Given the description of an element on the screen output the (x, y) to click on. 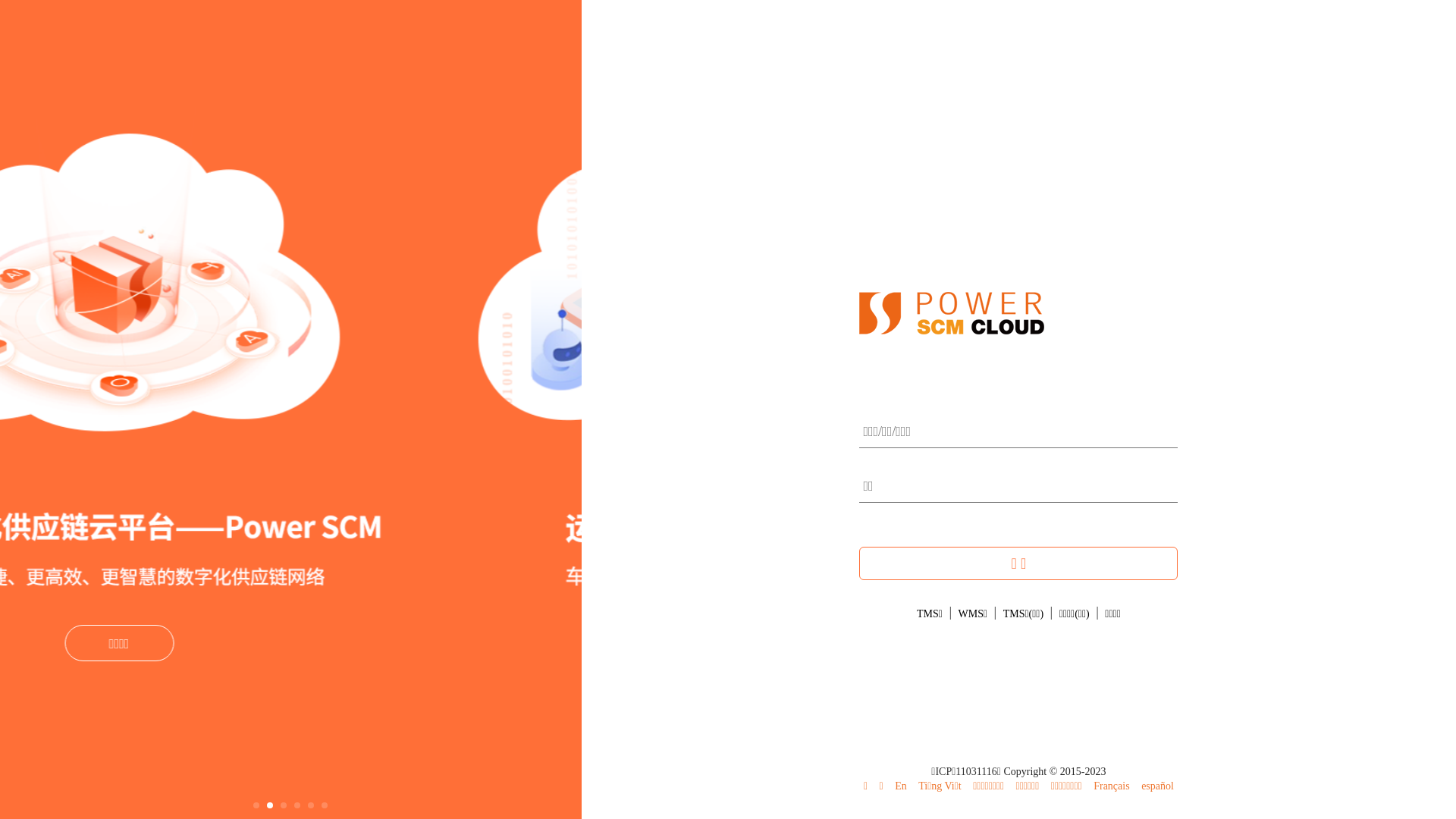
En Element type: text (900, 785)
